Given the description of an element on the screen output the (x, y) to click on. 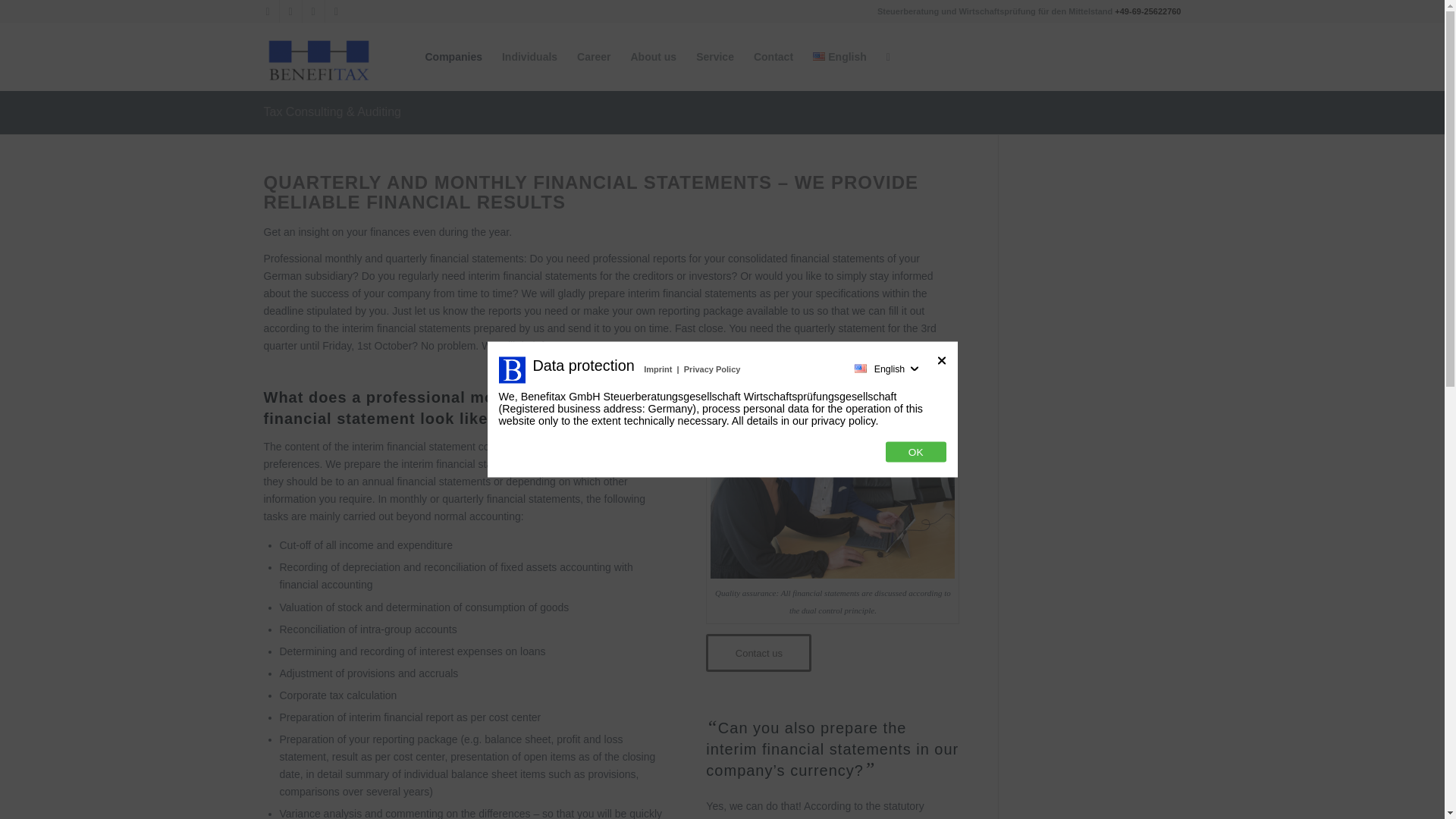
Companies (453, 56)
Facebook (290, 11)
Instagram (267, 11)
Youtube (335, 11)
LinkedIn (312, 11)
